Given the description of an element on the screen output the (x, y) to click on. 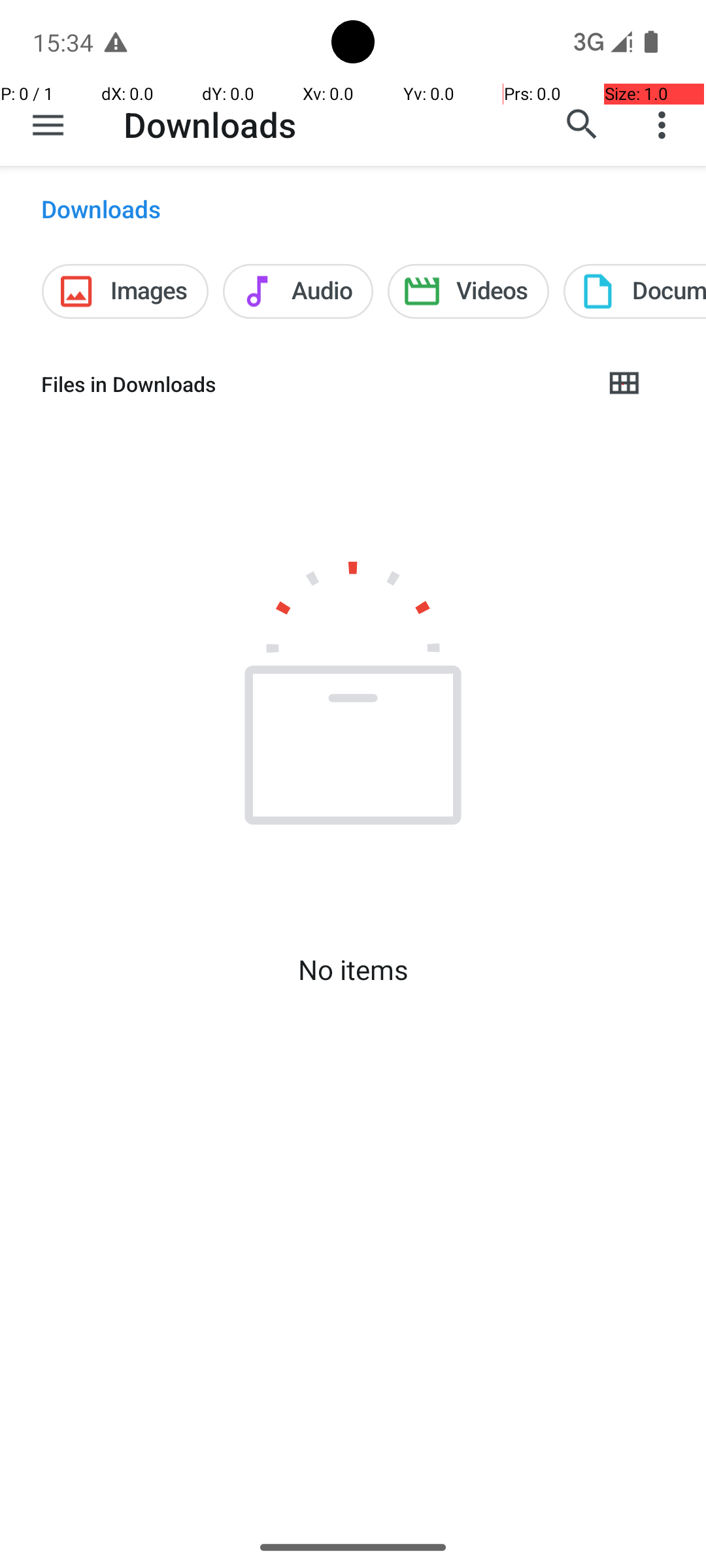
Grid view Element type: android.widget.TextView (622, 384)
